Given the description of an element on the screen output the (x, y) to click on. 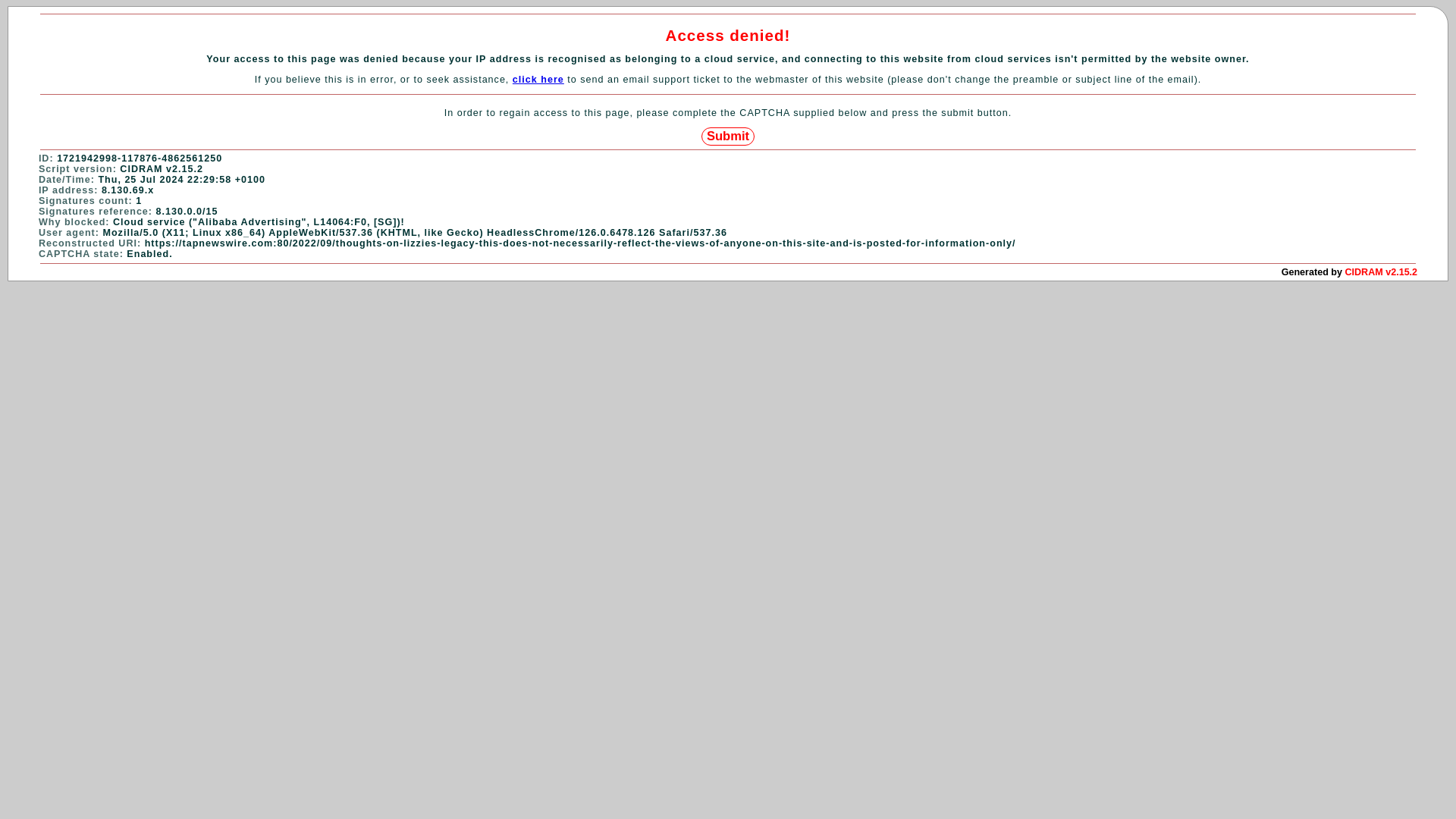
click here (538, 79)
Submit (727, 136)
Submit (727, 136)
